Given the description of an element on the screen output the (x, y) to click on. 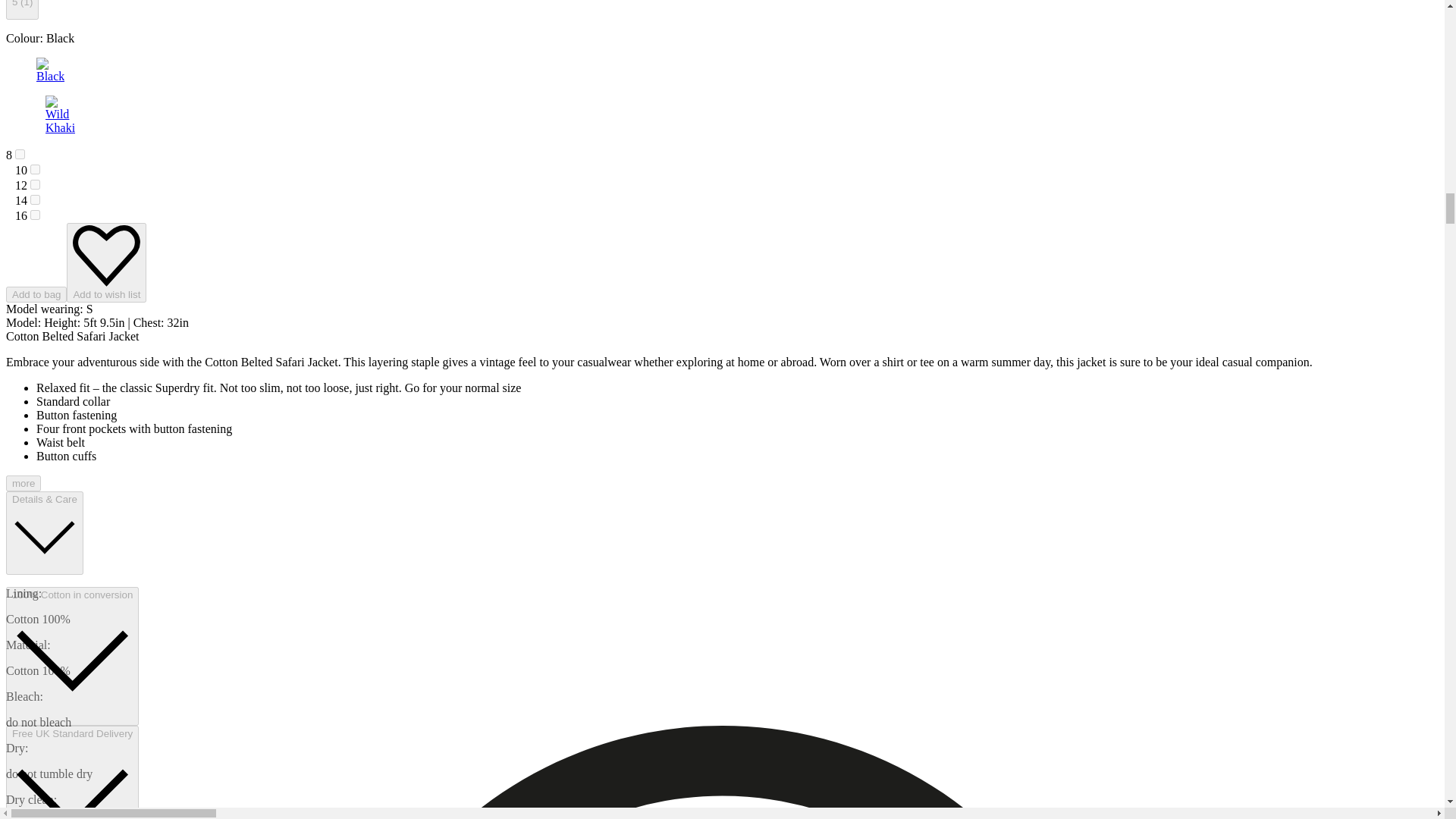
Add to bag (35, 294)
Free UK Standard Delivery (71, 772)
on (35, 184)
on (35, 199)
on (19, 153)
more (22, 483)
on (35, 169)
Add to wish list (106, 262)
on (35, 214)
